Given the description of an element on the screen output the (x, y) to click on. 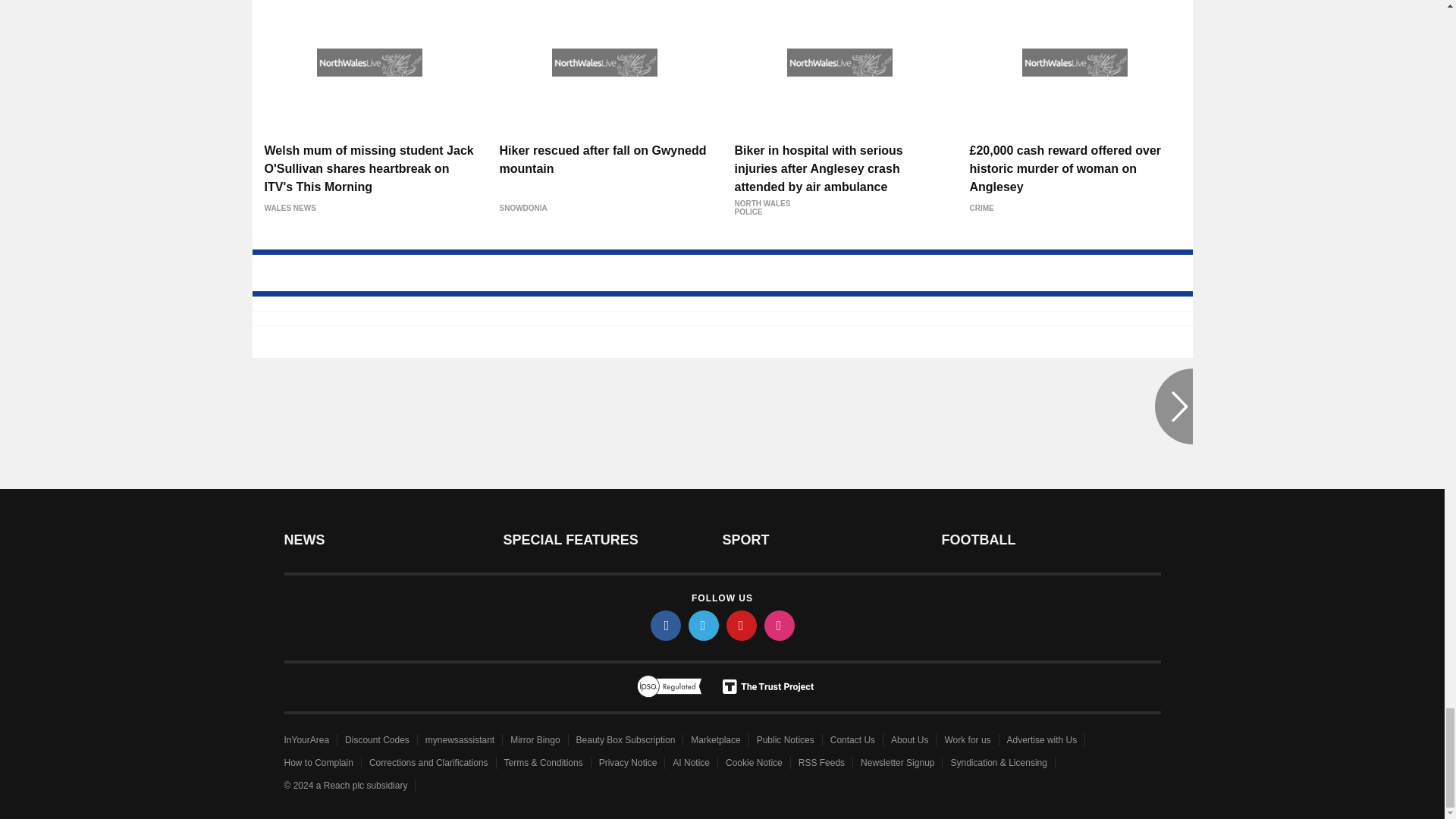
facebook (665, 625)
instagram (779, 625)
pinterest (741, 625)
twitter (703, 625)
